Given the description of an element on the screen output the (x, y) to click on. 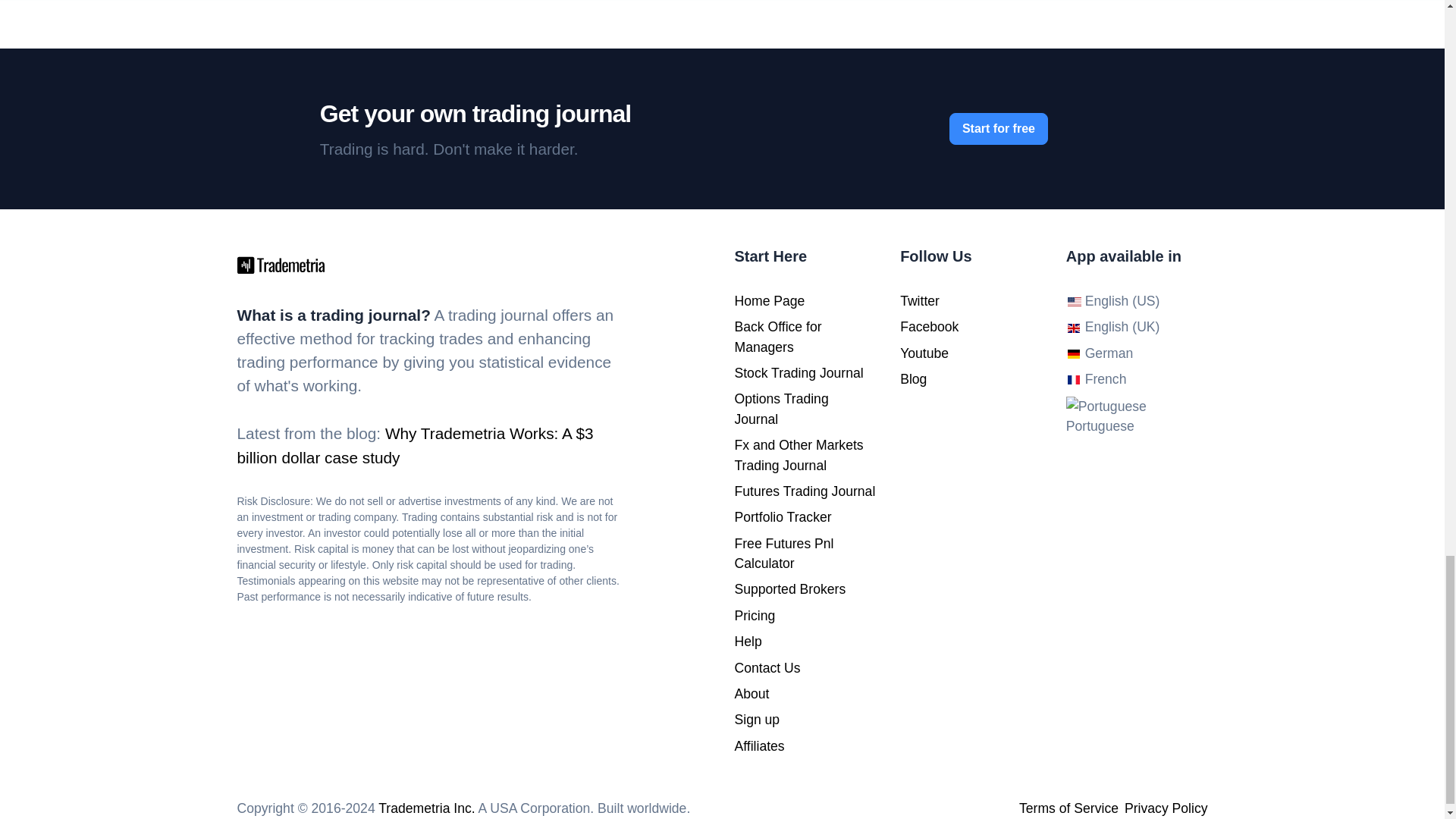
Start for free (998, 128)
Back Office for Managers (777, 336)
Home Page (769, 300)
Options Trading Journal (780, 408)
Fx and Other Markets Trading Journal (798, 454)
Stock Trading Journal (798, 372)
